Given the description of an element on the screen output the (x, y) to click on. 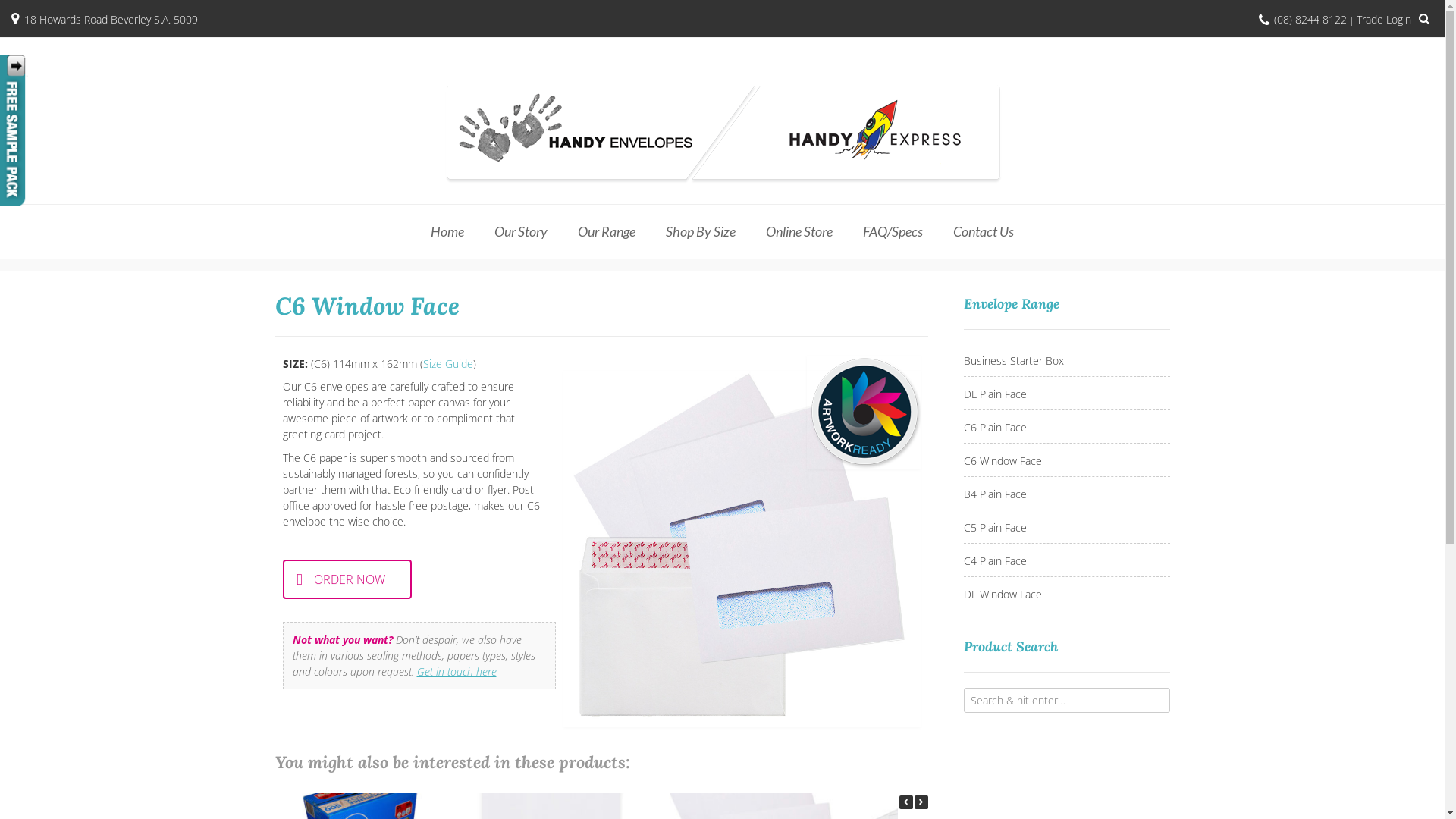
Shop By Size Element type: text (700, 231)
C4 Plain Face Element type: text (1066, 560)
Next Element type: hover (921, 802)
Trade Login Element type: text (1383, 19)
Previous Element type: hover (906, 802)
Our Range Element type: text (606, 231)
C6 Plain Face Element type: text (1066, 427)
Get in touch here Element type: text (456, 671)
Business Starter Box Element type: text (1066, 360)
Online Store Element type: text (798, 231)
FAQ/Specs Element type: text (892, 231)
Home Element type: text (447, 231)
Size Guide Element type: text (448, 363)
ORDER NOW Element type: text (346, 579)
Handy Express | Handy Envelopes | South Australia Element type: hover (721, 132)
C6 Window Face Element type: text (1066, 460)
(08) 8244 8122 Element type: text (1310, 19)
DL Window Face Element type: text (1066, 594)
Our Story Element type: text (520, 231)
DL Plain Face Element type: text (1066, 393)
B4 Plain Face Element type: text (1066, 494)
Contact Us Element type: text (983, 231)
C5 Plain Face Element type: text (1066, 527)
